Given the description of an element on the screen output the (x, y) to click on. 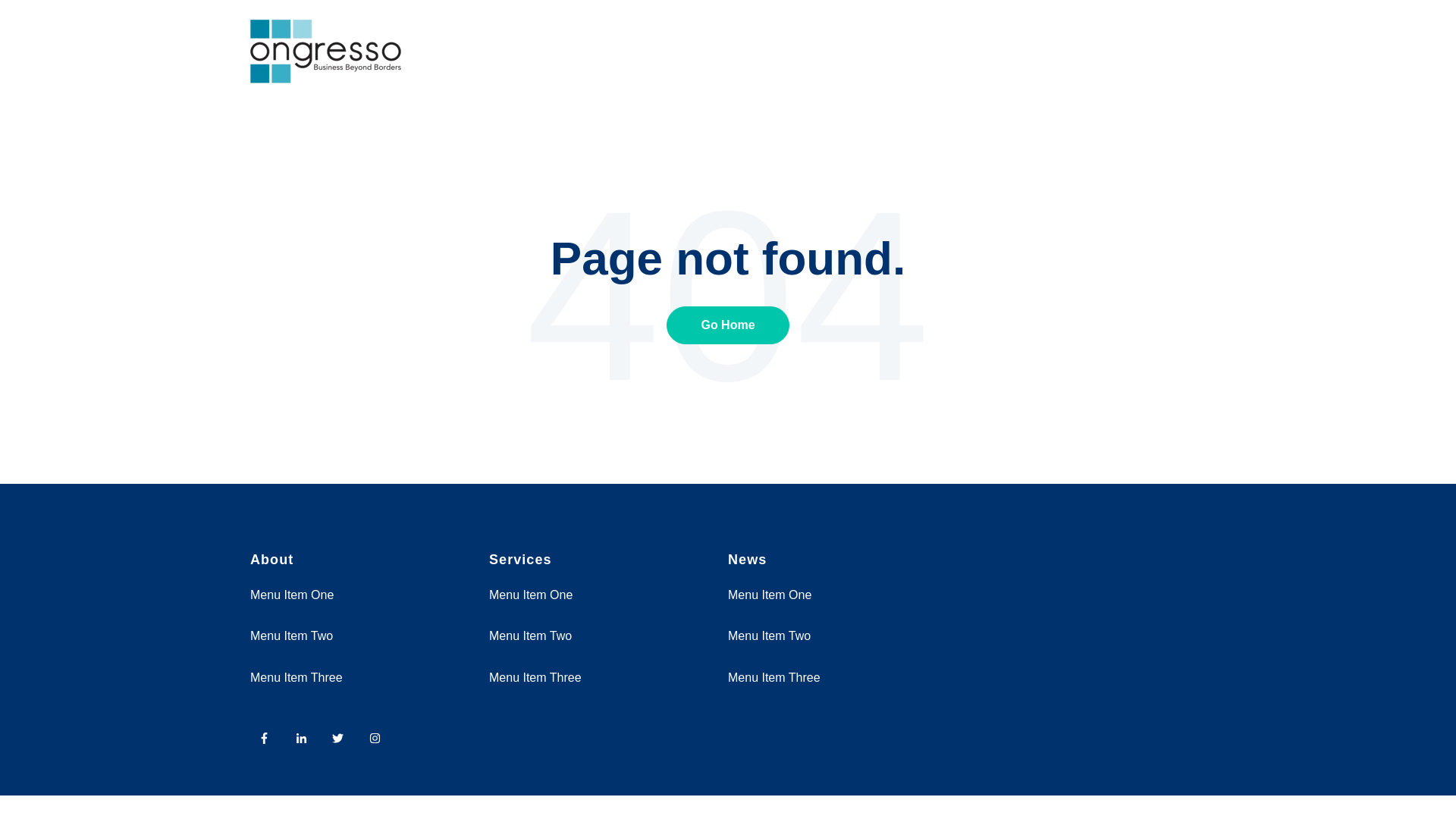
Menu Item One (291, 594)
Follow us on LinkedIn (301, 737)
Follow us on Instagram (374, 737)
Follow us on LinkedIn (305, 742)
Go Home (727, 324)
Follow us on Facebook (264, 737)
Menu Item Three (296, 676)
Menu Item Two (769, 635)
Menu Item One (530, 594)
Follow us on Twitter (342, 742)
